Given the description of an element on the screen output the (x, y) to click on. 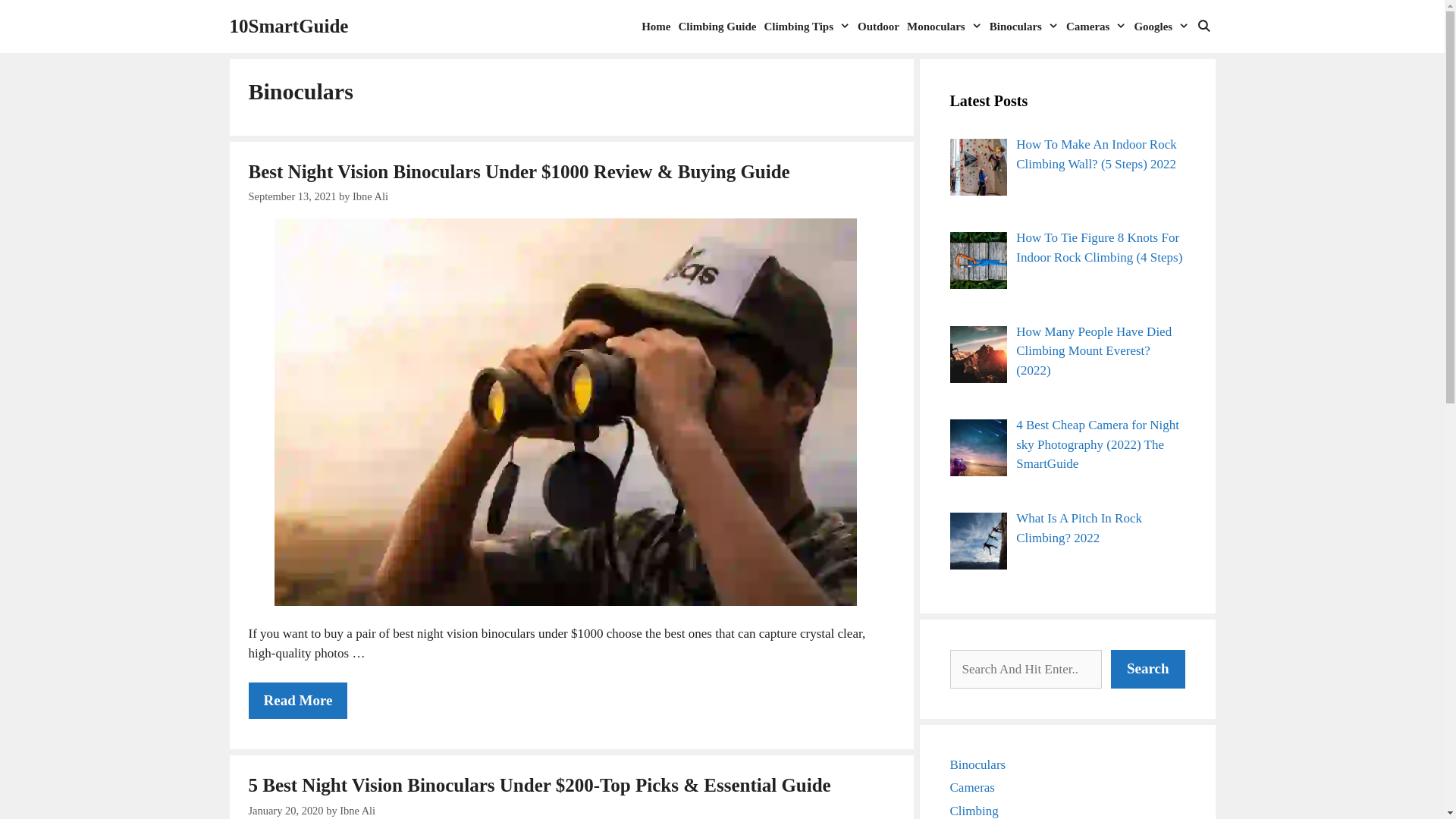
Search Element type: text (1147, 668)
How To Tie Figure 8 Knots For Indoor Rock Climbing (4 Steps) Element type: text (1099, 247)
How To Make An Indoor Rock Climbing Wall? (5 Steps) 2022 Element type: text (1096, 154)
Cameras Element type: text (1095, 26)
Ibne Ali Element type: text (357, 810)
Outdoor Element type: text (878, 26)
Climbing Guide Element type: text (716, 26)
Googles Element type: text (1160, 26)
Ibne Ali Element type: text (370, 196)
Binoculars Element type: text (977, 764)
How Many People Have Died Climbing Mount Everest? (2022) Element type: text (1093, 350)
10SmartGuide Element type: text (288, 26)
Read More Element type: text (298, 700)
Climbing Tips Element type: text (806, 26)
What Is A Pitch In Rock Climbing? 2022 Element type: text (1079, 528)
Cameras Element type: text (971, 787)
Climbing Element type: text (973, 810)
Monoculars Element type: text (944, 26)
Binoculars Element type: text (1023, 26)
Home Element type: text (655, 26)
